Given the description of an element on the screen output the (x, y) to click on. 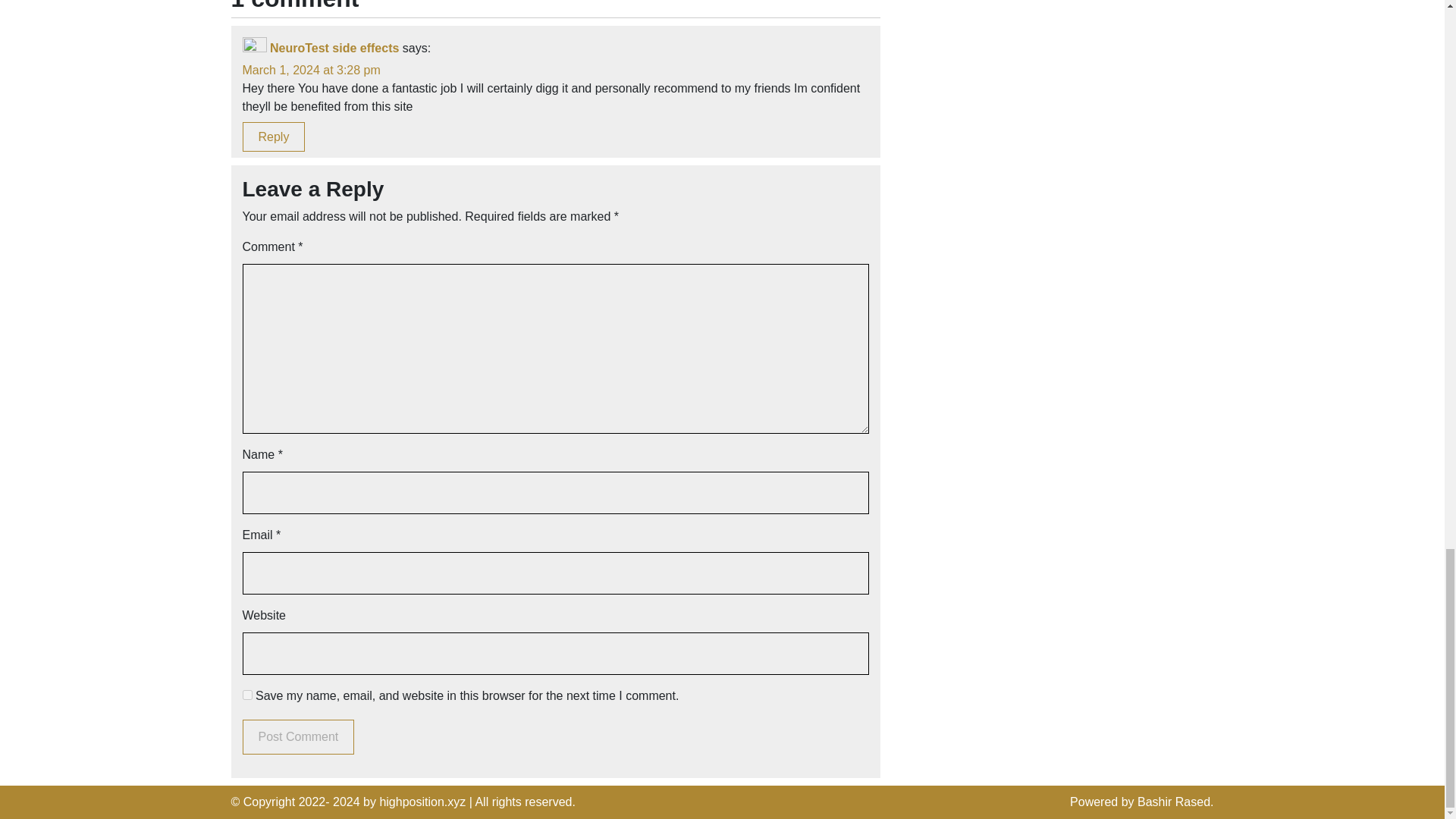
Post Comment (299, 736)
yes (247, 695)
March 1, 2024 at 3:28 pm (311, 69)
Post Comment (299, 736)
Reply (274, 136)
NeuroTest side effects (333, 47)
